Given the description of an element on the screen output the (x, y) to click on. 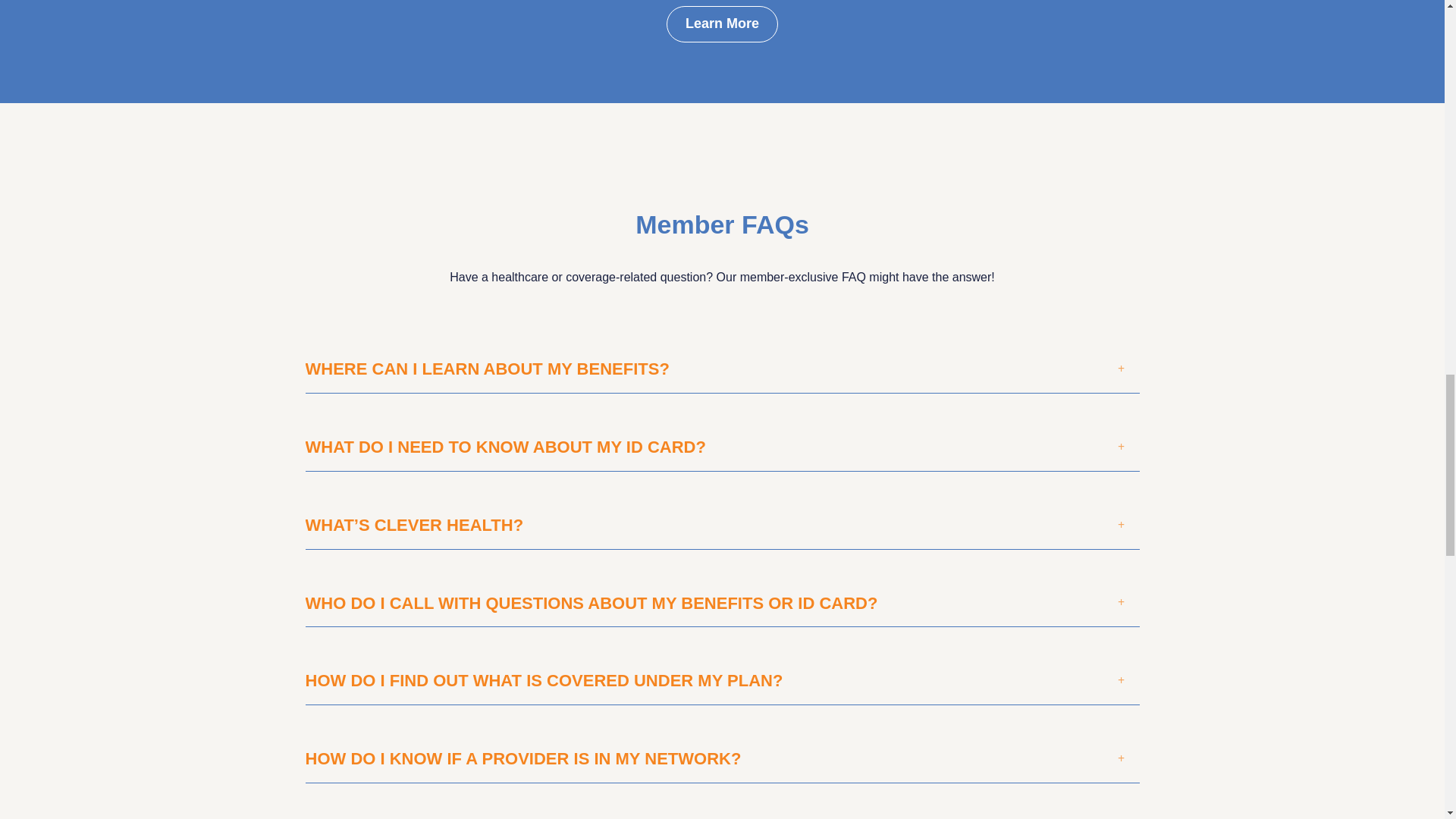
Learn More (721, 23)
